Given the description of an element on the screen output the (x, y) to click on. 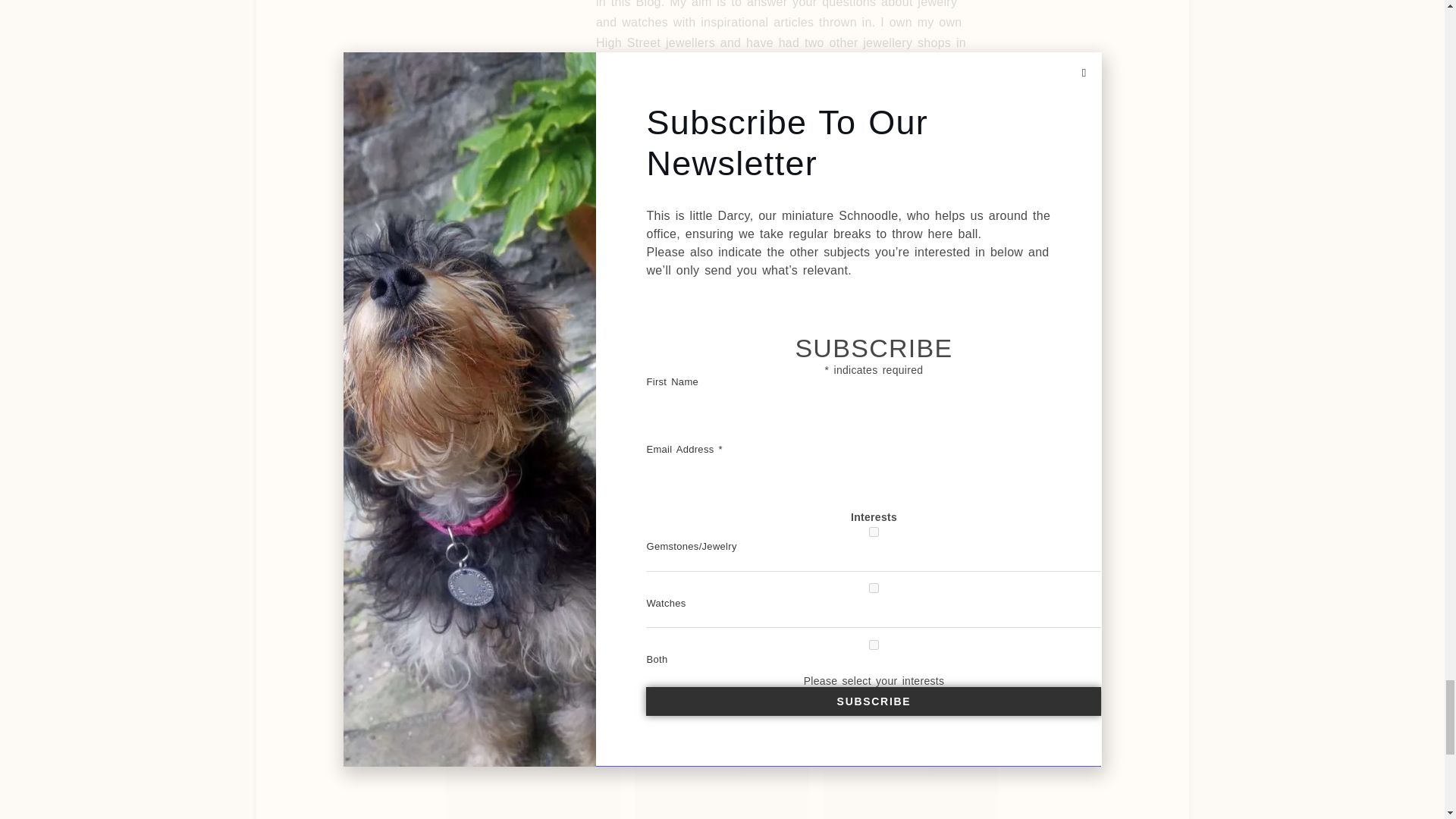
The Names of Parts Of A Watch (721, 764)
Can I Wear My Water Resistant Watch In The Shower? (532, 764)
Different Types of Watch Indices (911, 764)
Submit (722, 556)
yes (437, 508)
